Given the description of an element on the screen output the (x, y) to click on. 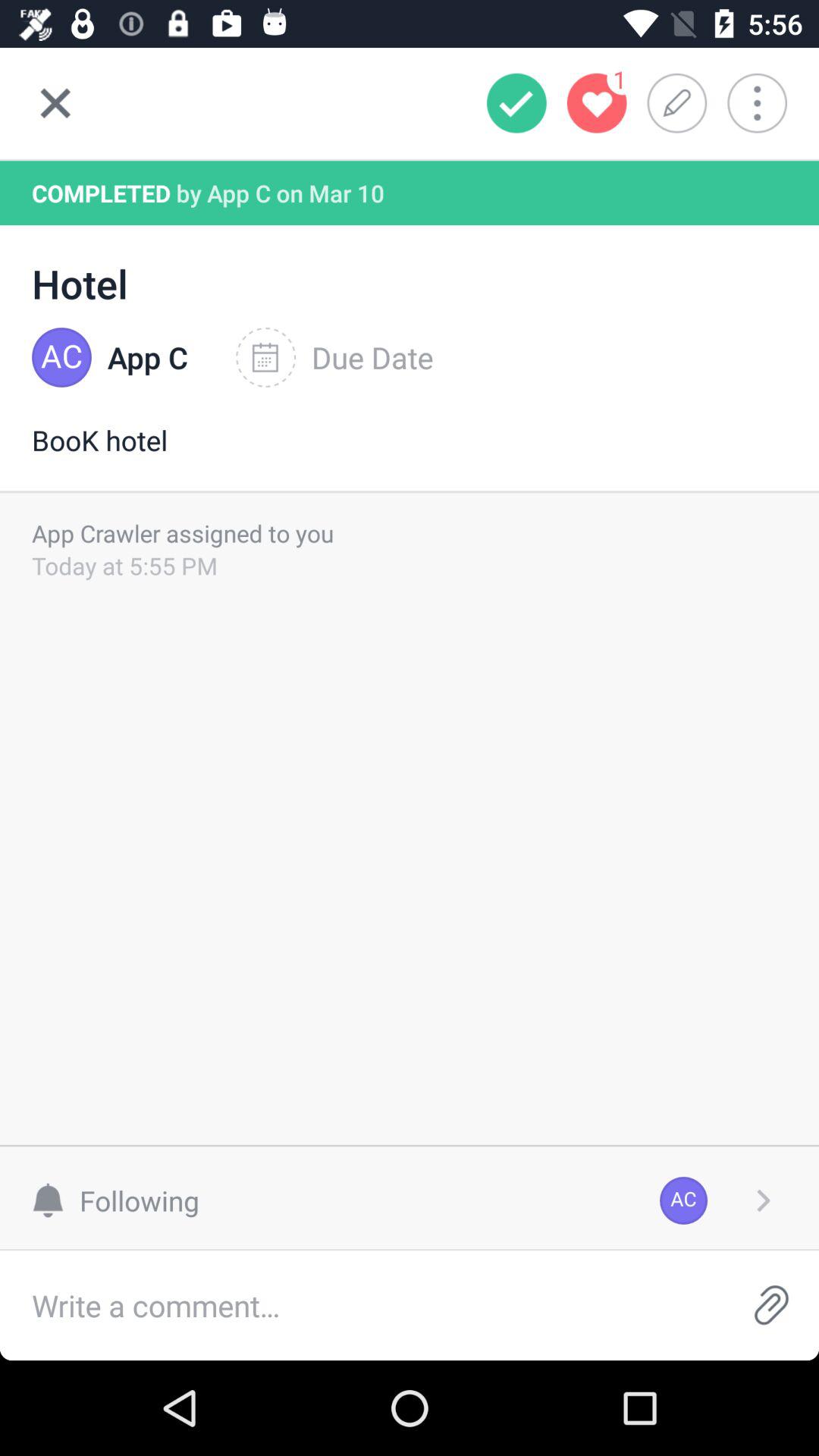
press the item next to the ac item (123, 1200)
